Given the description of an element on the screen output the (x, y) to click on. 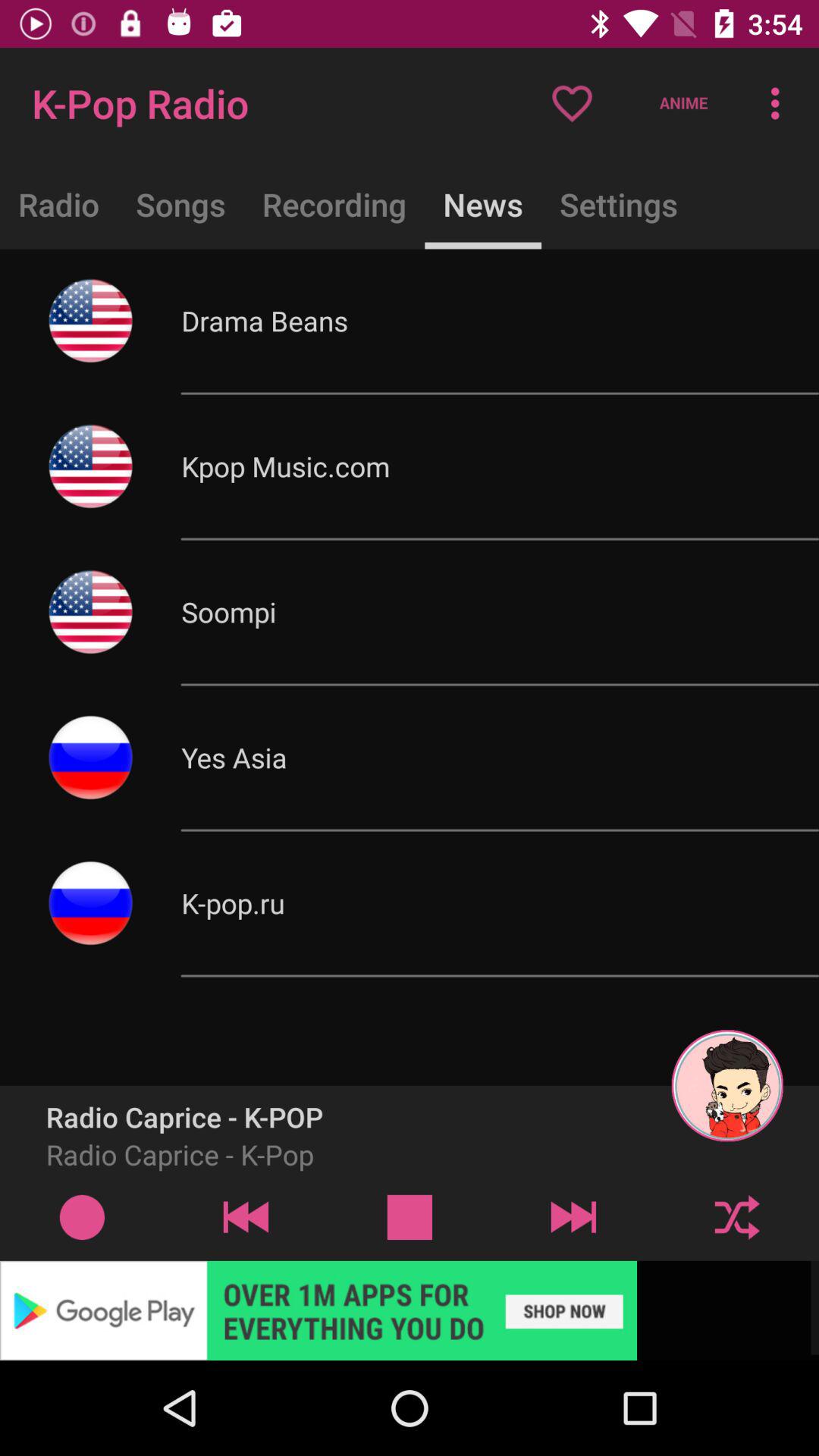
open info (81, 1216)
